Given the description of an element on the screen output the (x, y) to click on. 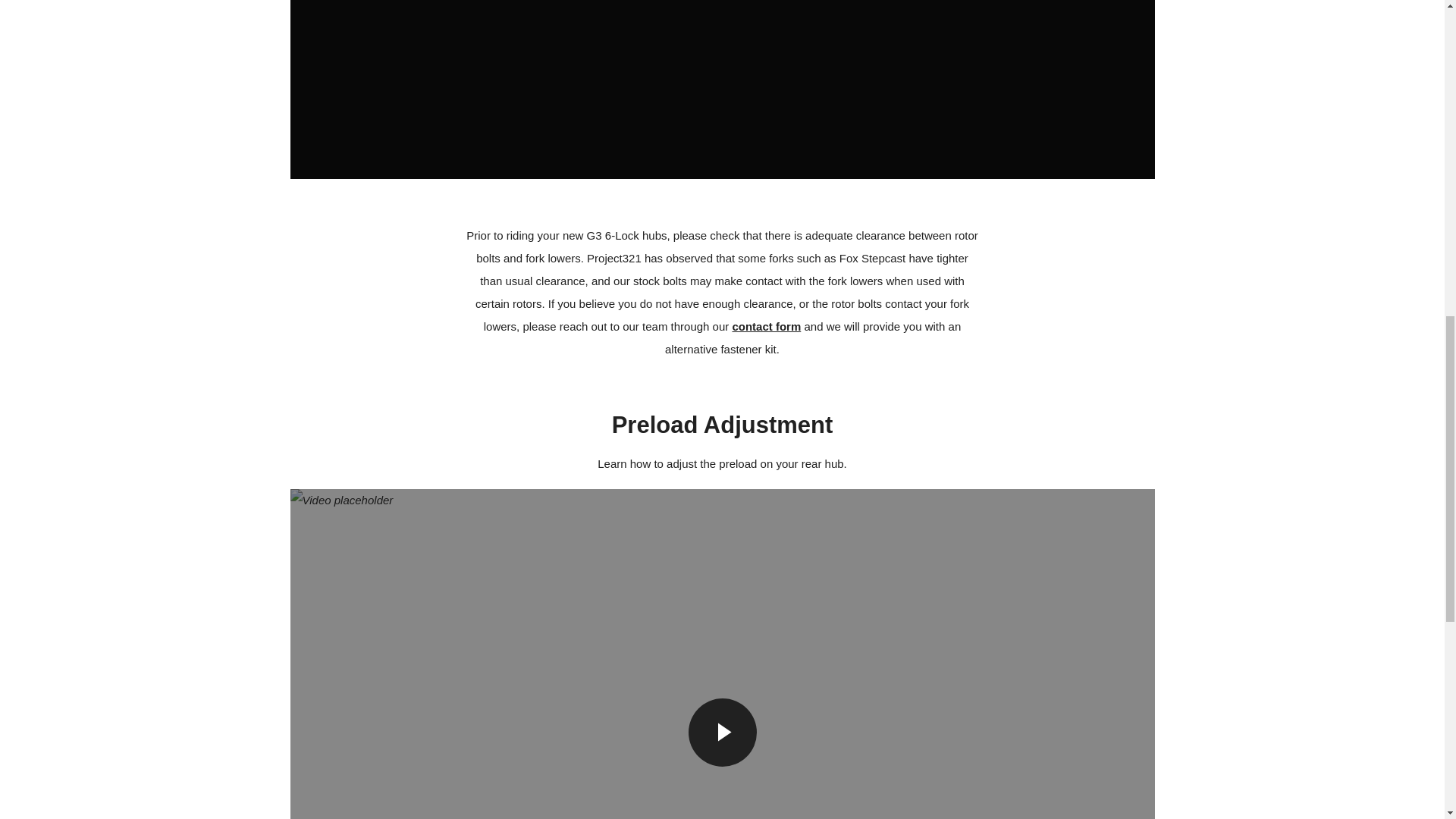
Contact (766, 326)
